Given the description of an element on the screen output the (x, y) to click on. 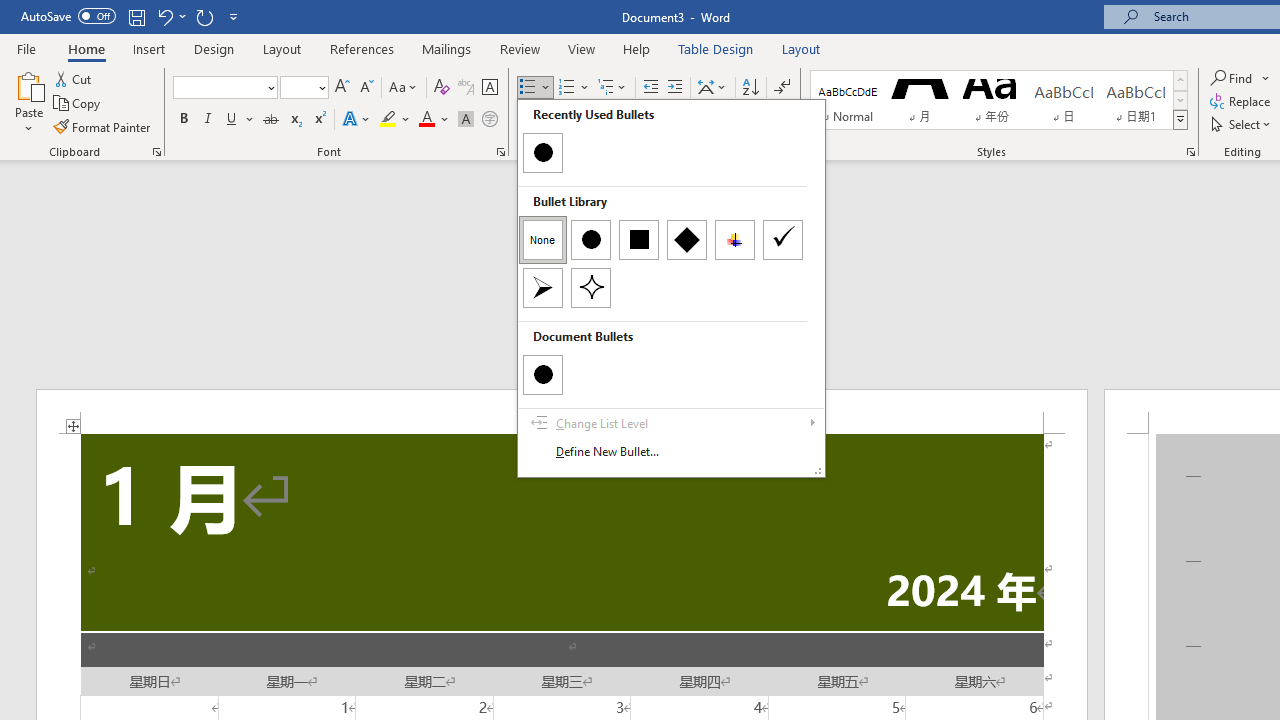
Subscript (294, 119)
Cut (73, 78)
Insert (149, 48)
Font... (500, 151)
More Options (1266, 78)
Font (224, 87)
System (10, 11)
Find (1233, 78)
System (10, 11)
Row Down (1179, 100)
Character Border (489, 87)
Numbering (573, 87)
Font Color RGB(255, 0, 0) (426, 119)
Save (136, 15)
